Given the description of an element on the screen output the (x, y) to click on. 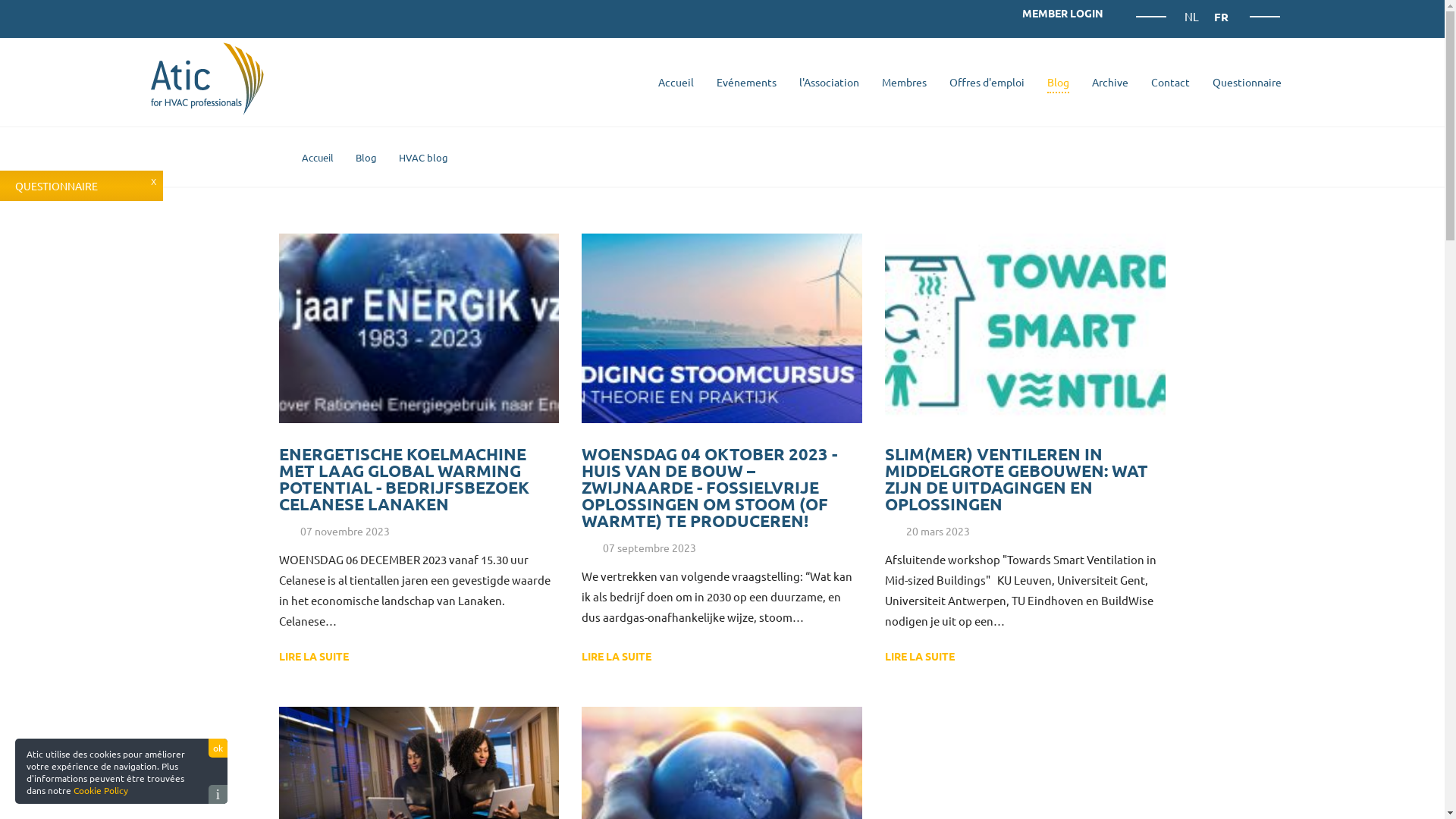
Archive Element type: text (1109, 81)
Blog Element type: text (365, 156)
Blog Element type: text (1058, 81)
Contact Element type: text (1169, 81)
LIRE LA SUITE Element type: text (338, 657)
NL Element type: text (1192, 16)
Membres Element type: text (904, 81)
Offres d'emploi Element type: text (985, 81)
QUESTIONNAIRE Element type: text (81, 185)
Questionnaire Element type: text (1246, 81)
Accueil Element type: text (674, 81)
FR Element type: text (1220, 16)
LIRE LA SUITE Element type: text (640, 657)
l'Association Element type: text (828, 81)
Accueil Element type: text (317, 156)
i Element type: text (217, 793)
Cookie Policy Element type: text (100, 790)
LIRE LA SUITE Element type: text (943, 657)
